Given the description of an element on the screen output the (x, y) to click on. 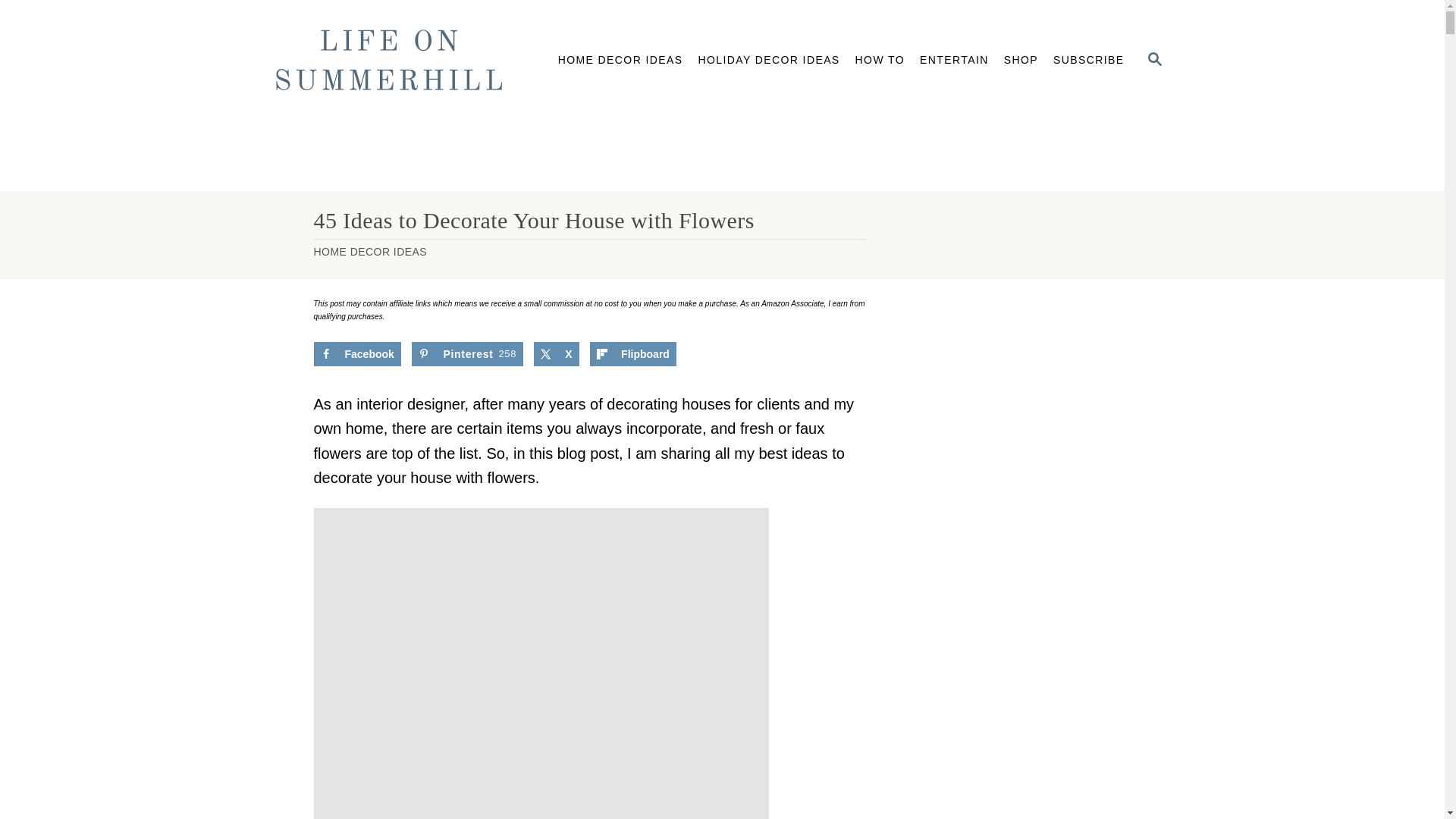
LIFE ON SUMMERHILL (394, 60)
HOME DECOR IDEAS (620, 60)
SEARCH (1154, 60)
Share on Facebook (357, 354)
HOLIDAY DECOR IDEAS (768, 60)
ENTERTAIN (953, 60)
HOW TO (879, 60)
SHOP (1020, 60)
Share on Flipboard (633, 354)
Save to Pinterest (467, 354)
Share on X (556, 354)
